Given the description of an element on the screen output the (x, y) to click on. 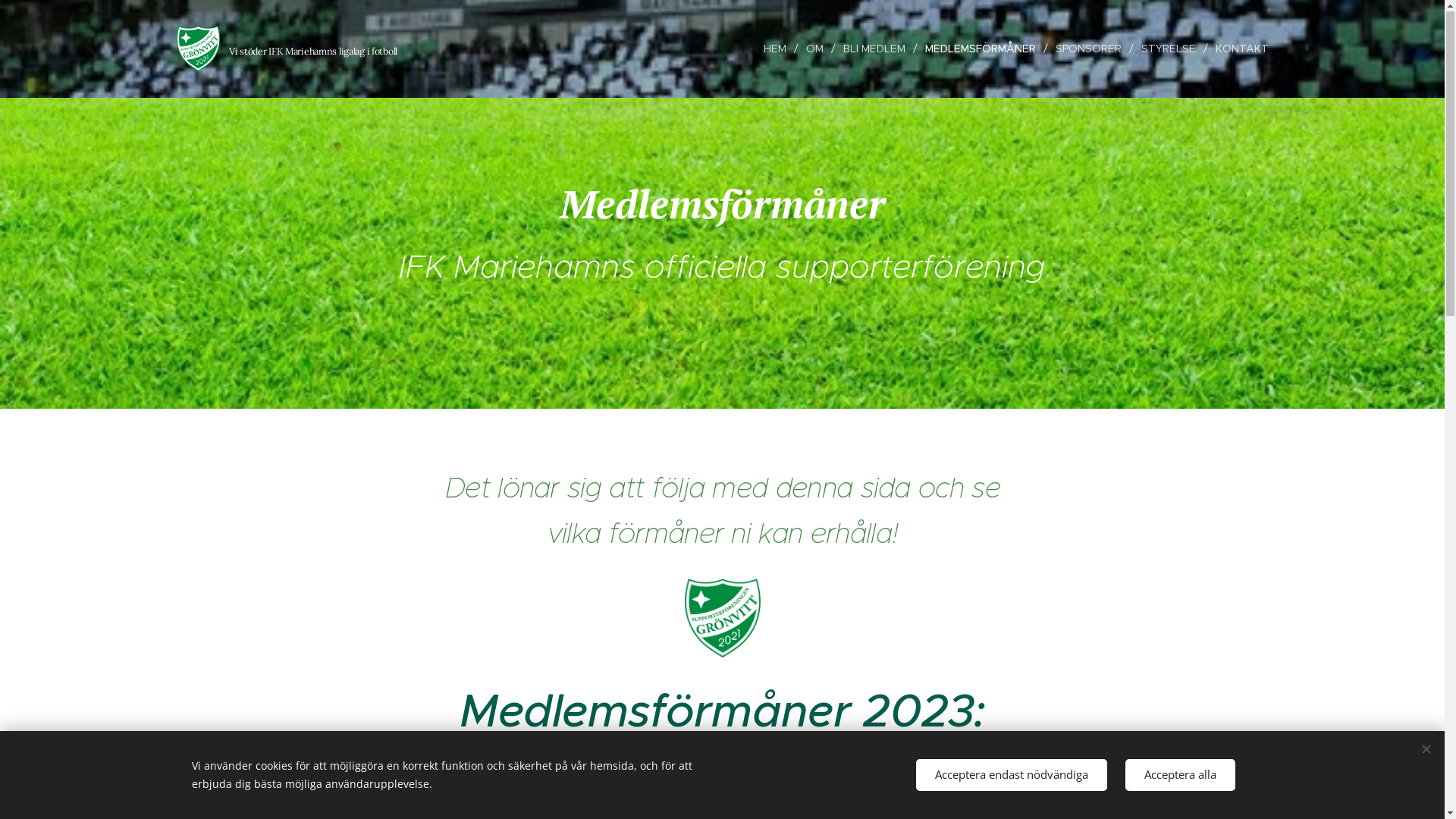
OM Element type: text (815, 49)
KONTAKT Element type: text (1237, 49)
Acceptera alla Element type: text (1180, 774)
HEM Element type: text (778, 49)
SPONSORER Element type: text (1090, 49)
STYRELSE Element type: text (1169, 49)
BLI MEDLEM Element type: text (876, 49)
